Given the description of an element on the screen output the (x, y) to click on. 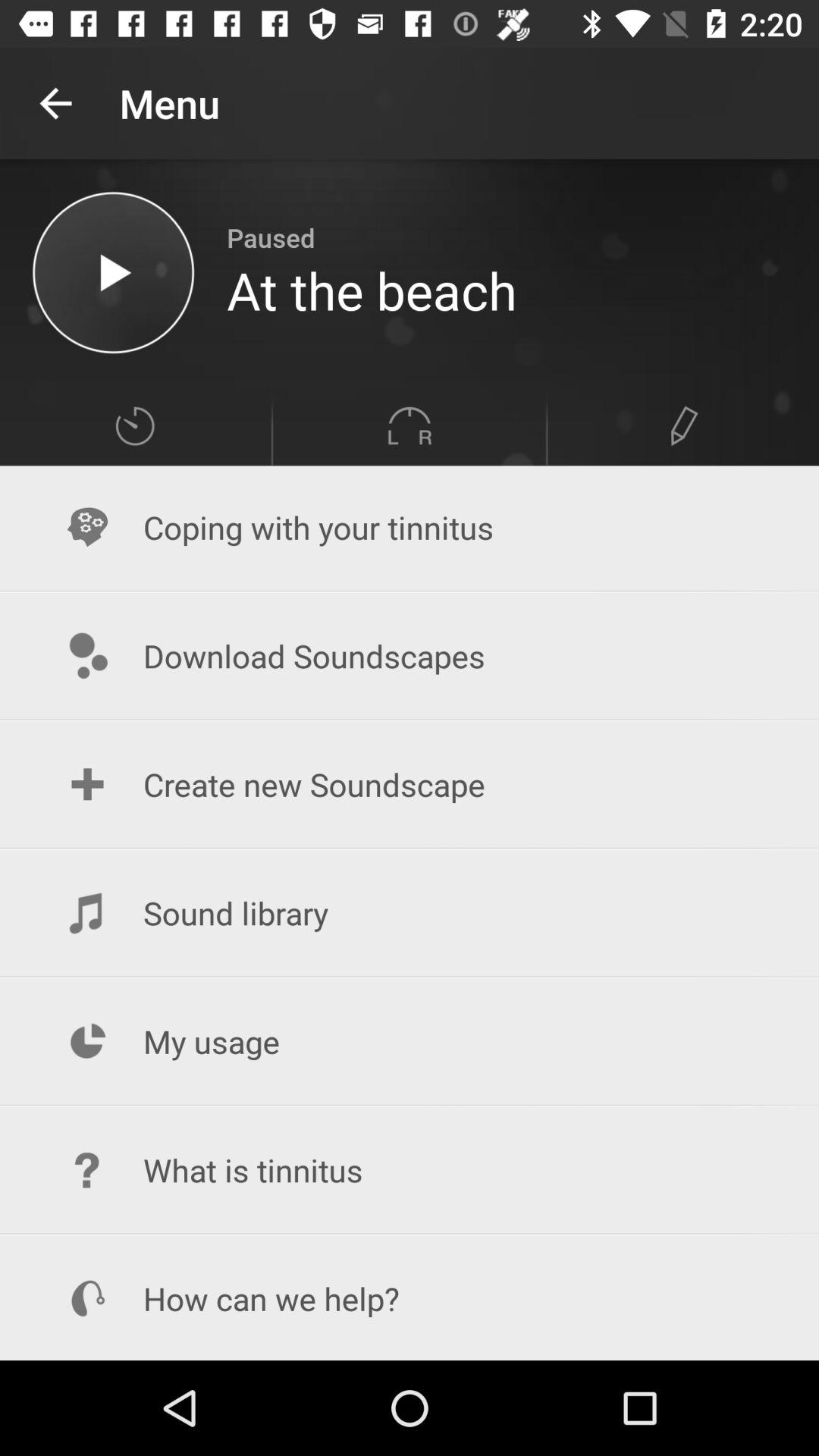
play music (113, 272)
